Given the description of an element on the screen output the (x, y) to click on. 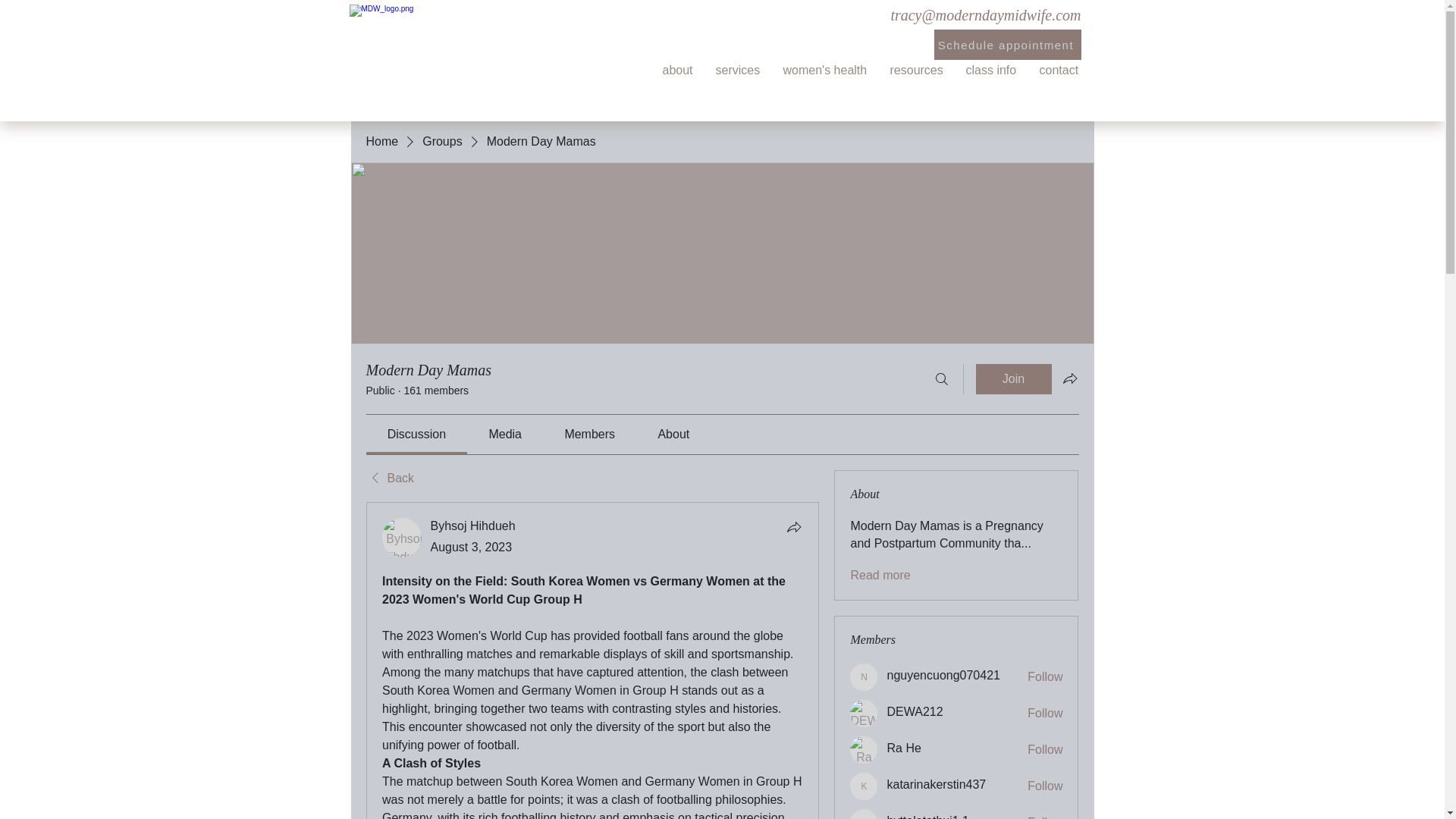
DEWA212 (914, 711)
Back (389, 478)
Read more (880, 575)
katarinakerstin437 (863, 786)
Groups (441, 141)
contact (1058, 70)
Byhsoj Hihdueh (472, 525)
Home (381, 141)
Ra He (903, 748)
Byhsoj Hihdueh (401, 537)
